Given the description of an element on the screen output the (x, y) to click on. 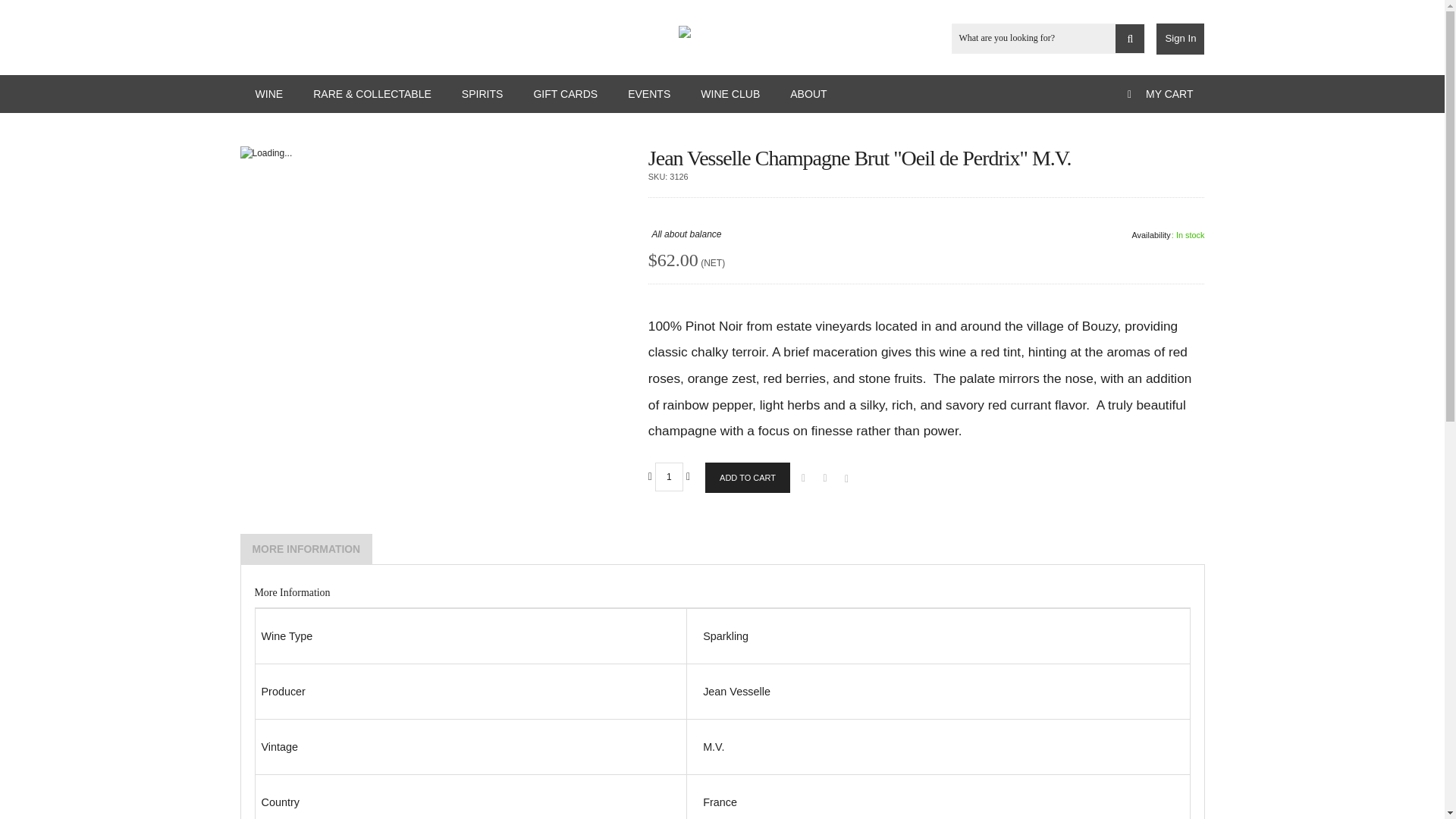
1 (668, 476)
Qty (668, 476)
Search (1129, 38)
Availability (1166, 234)
Sign In (1180, 38)
Back Room Wines (721, 32)
WINE (269, 94)
Add to Cart (747, 477)
Back Room Wines (721, 27)
